Given the description of an element on the screen output the (x, y) to click on. 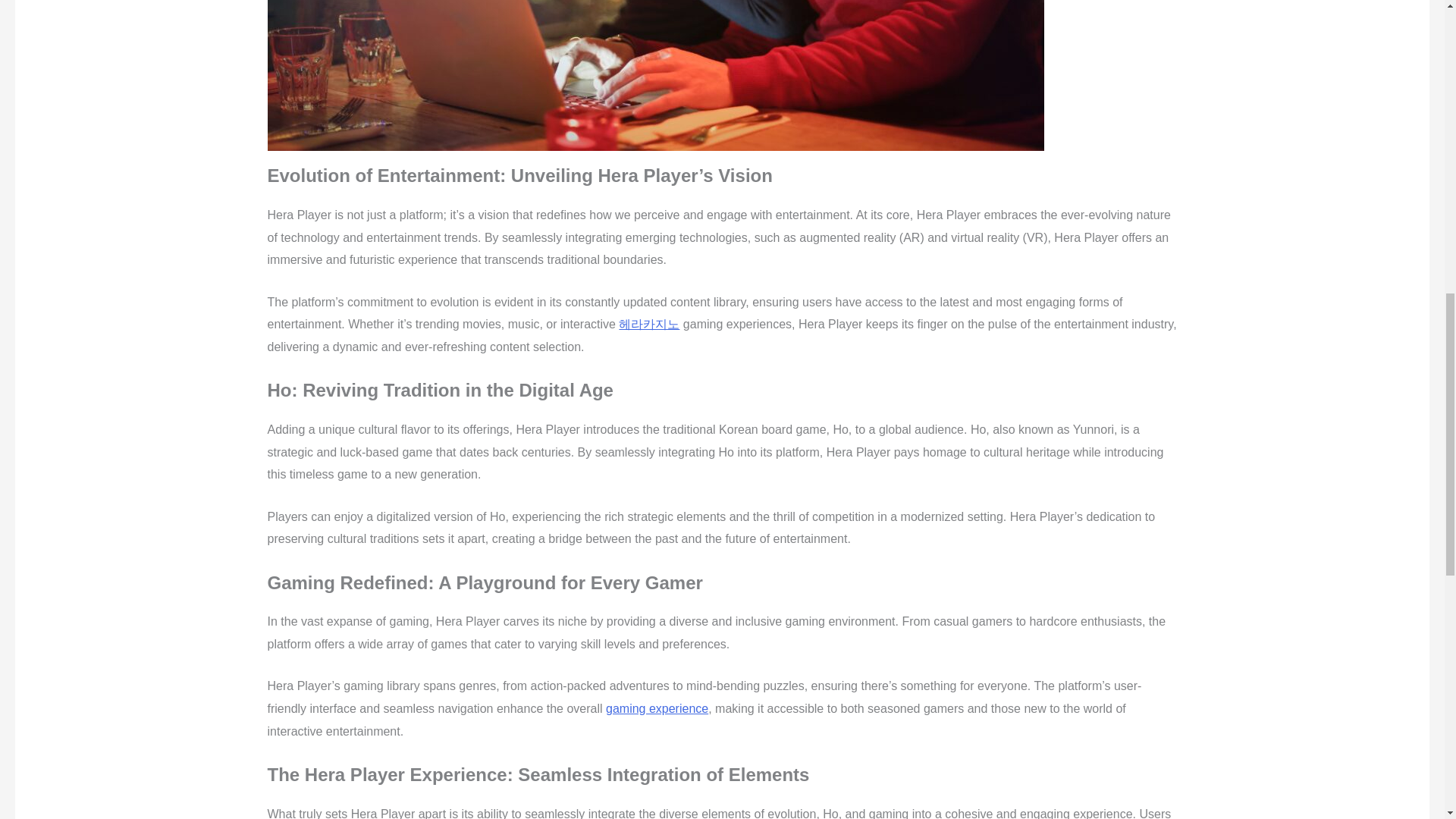
gaming experience (656, 707)
